Given the description of an element on the screen output the (x, y) to click on. 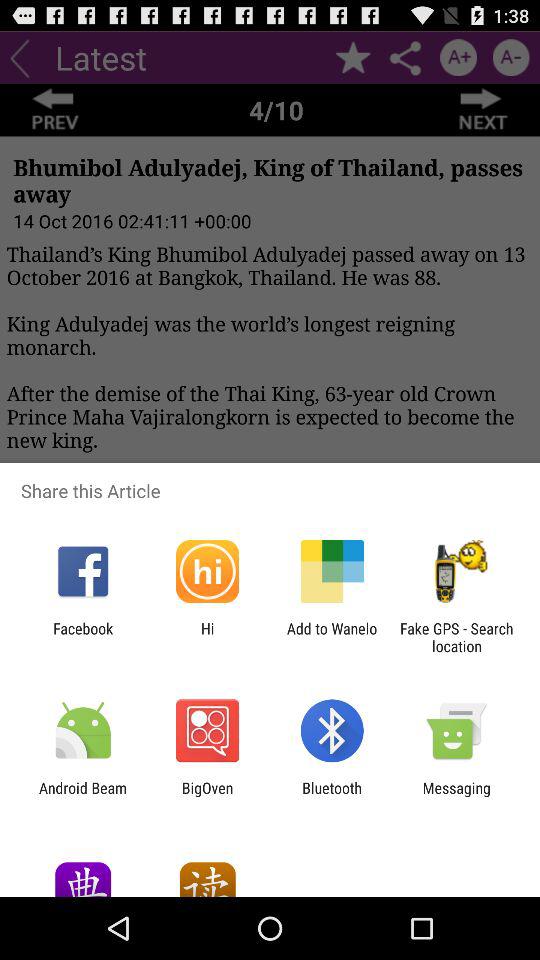
select the icon to the left of the hi app (83, 637)
